Given the description of an element on the screen output the (x, y) to click on. 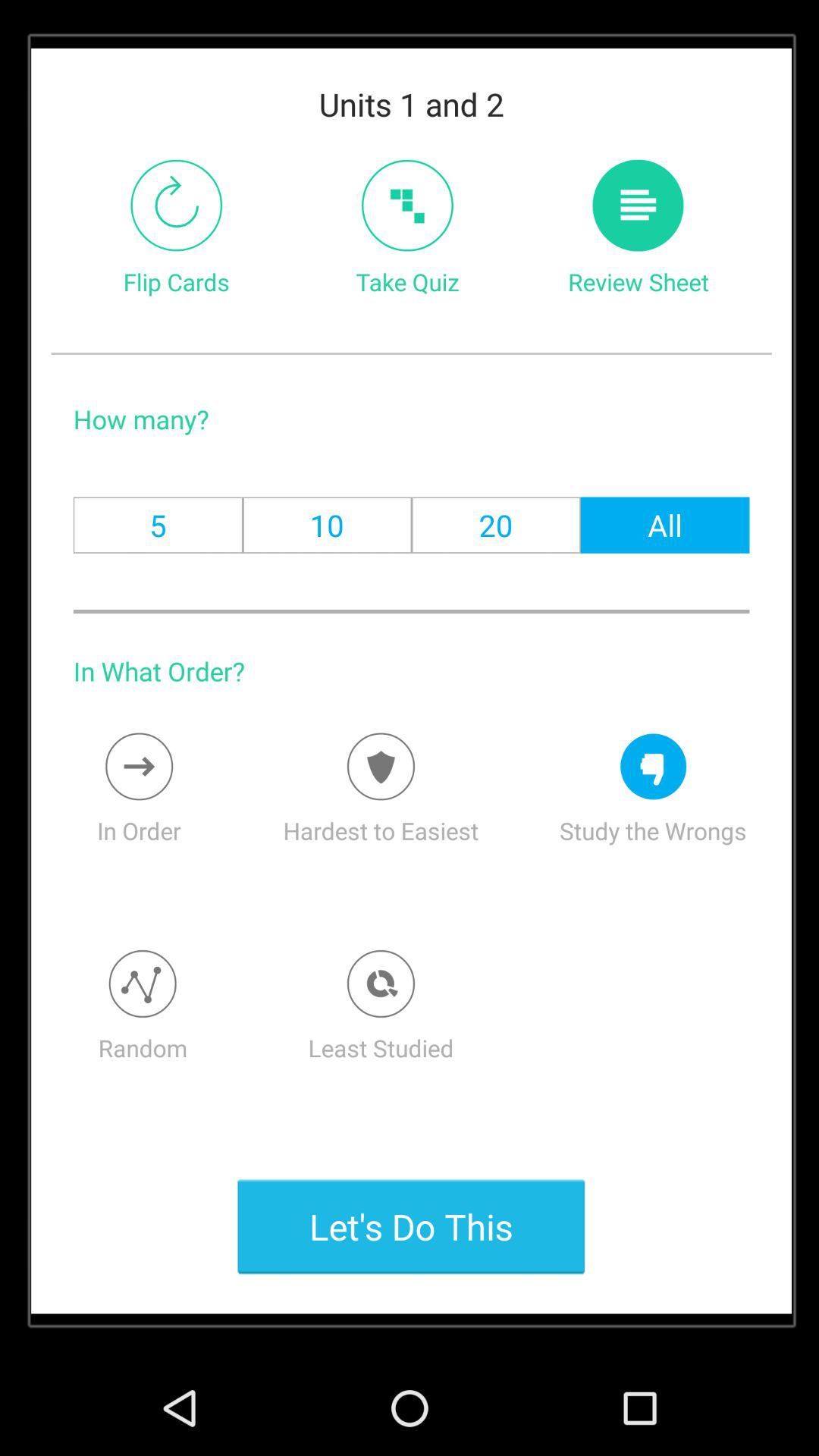
option to look at what you 've studied the least (380, 983)
